Given the description of an element on the screen output the (x, y) to click on. 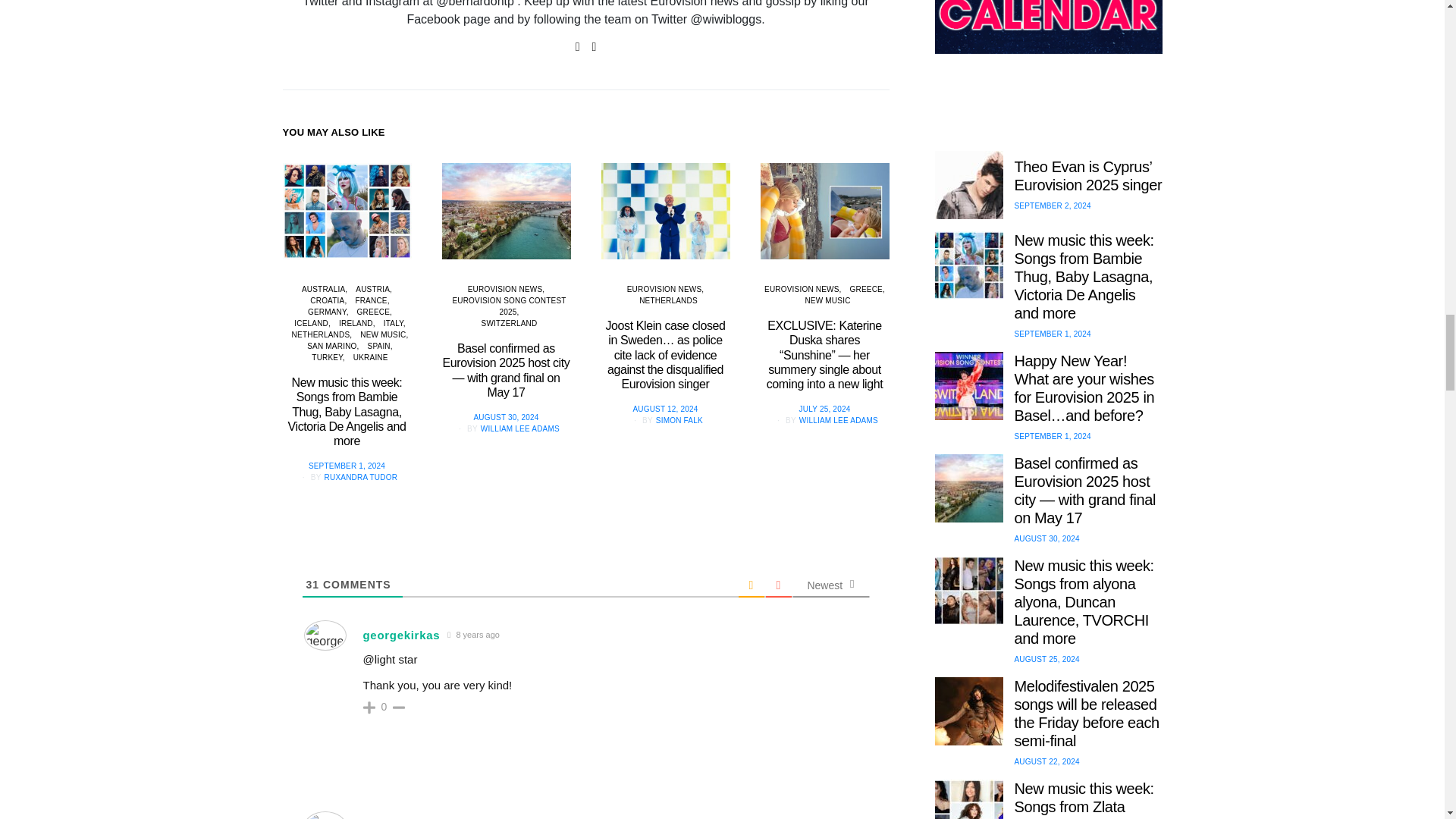
View all posts by Simon Falk (679, 420)
View all posts by Ruxandra Tudor (360, 477)
View all posts by William Lee Adams (838, 420)
View all posts by William Lee Adams (519, 429)
